Given the description of an element on the screen output the (x, y) to click on. 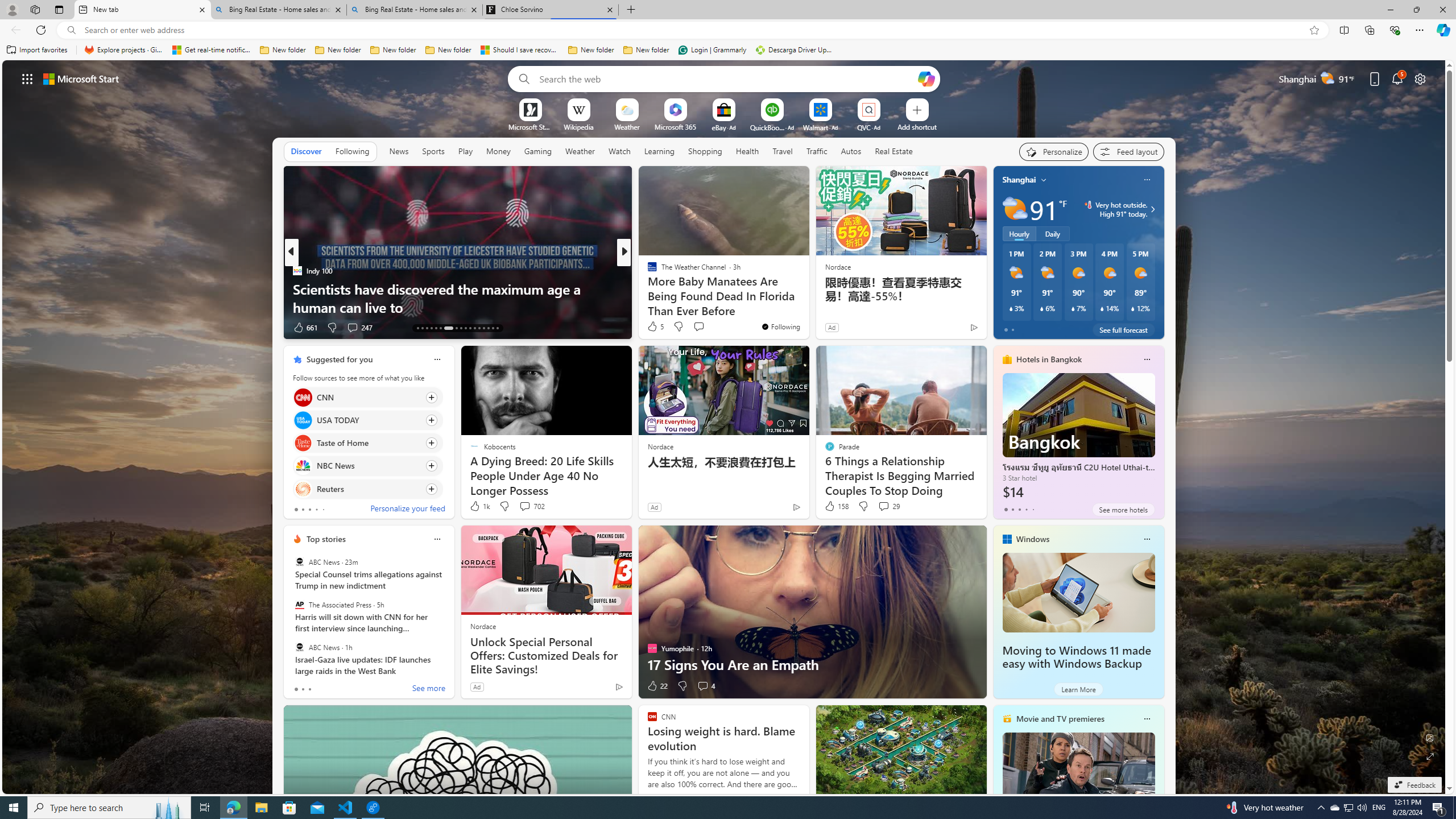
View comments 1 Comment (698, 327)
Money (497, 151)
App launcher (27, 78)
AutomationID: backgroundImagePicture (723, 426)
hotels-header-icon (1006, 358)
AutomationID: tab-21 (460, 328)
View comments 5 Comment (703, 327)
158 Like (835, 505)
Sports (432, 151)
Feed settings (1128, 151)
